Given the description of an element on the screen output the (x, y) to click on. 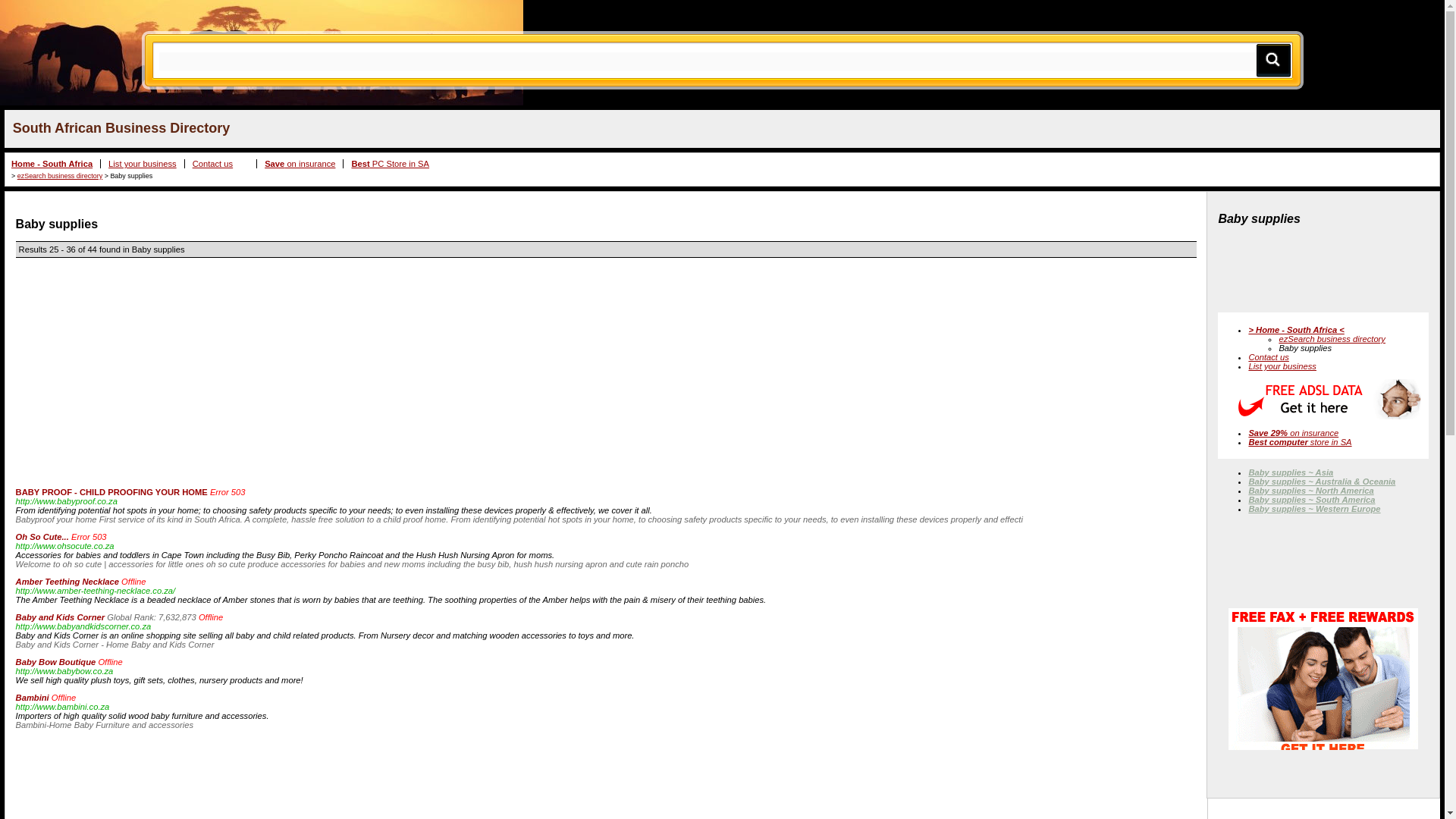
ezSearch business directory (1332, 338)
Contact us (212, 163)
Baby and Kids Corner (60, 616)
List your business (141, 163)
Home - South Africa (52, 163)
List your business (1281, 366)
Save on insurance (299, 163)
Contact us (1267, 356)
Baby Bow Boutique (56, 661)
ezSearch business directory (59, 175)
Best PC Store in SA (389, 163)
Search (1273, 59)
Oh So Cute... (42, 536)
Best computer store in SA (1299, 441)
BABY PROOF - CHILD PROOFING YOUR HOME (112, 491)
